Given the description of an element on the screen output the (x, y) to click on. 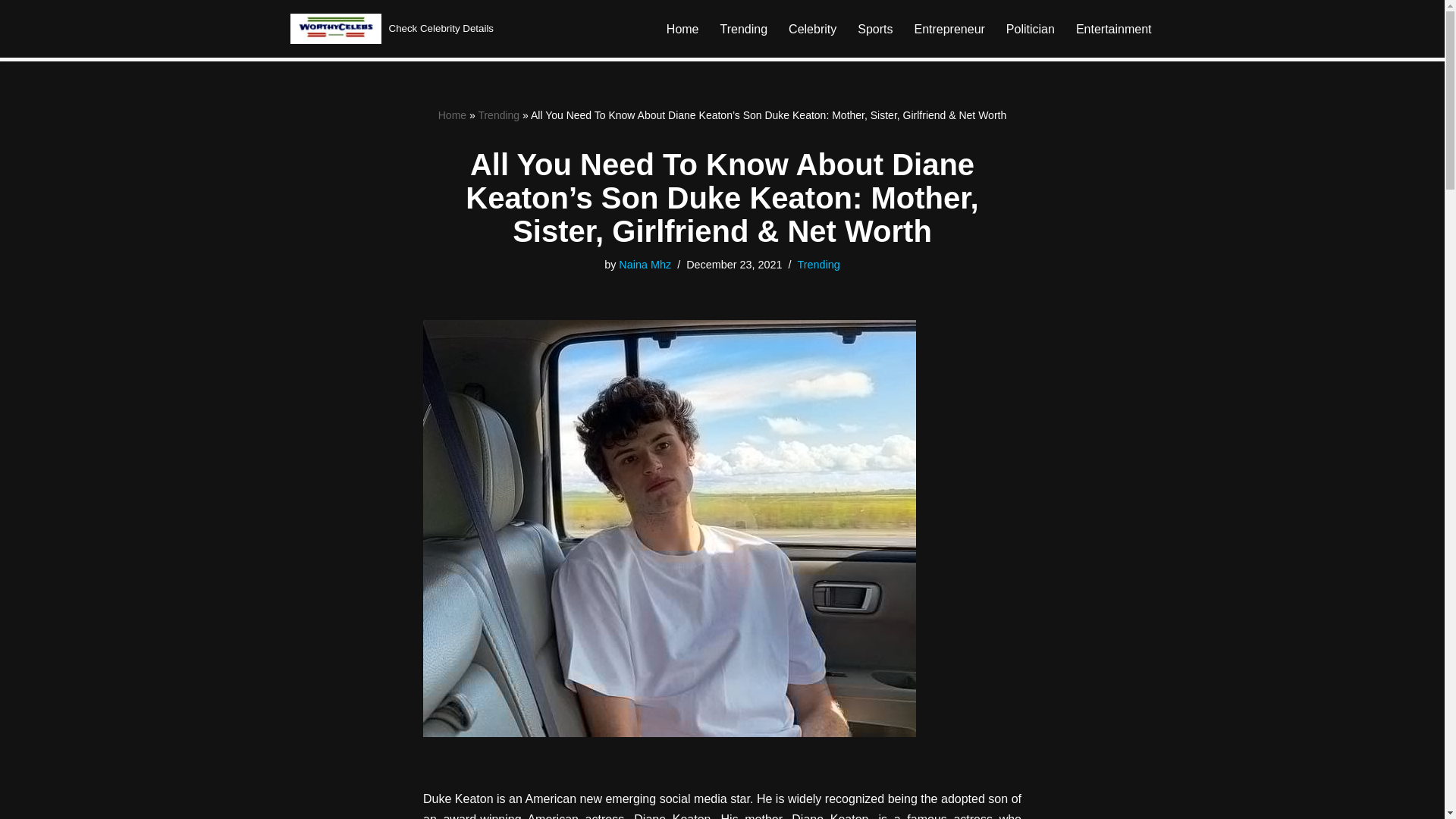
Navigation Menu (1418, 18)
Trending (744, 28)
Skip to content (11, 31)
Trending (818, 264)
Home (682, 28)
Entrepreneur (949, 28)
Posts by Naina Mhz (644, 264)
Celebrity (812, 28)
Trending (498, 114)
Sports (874, 28)
